Given the description of an element on the screen output the (x, y) to click on. 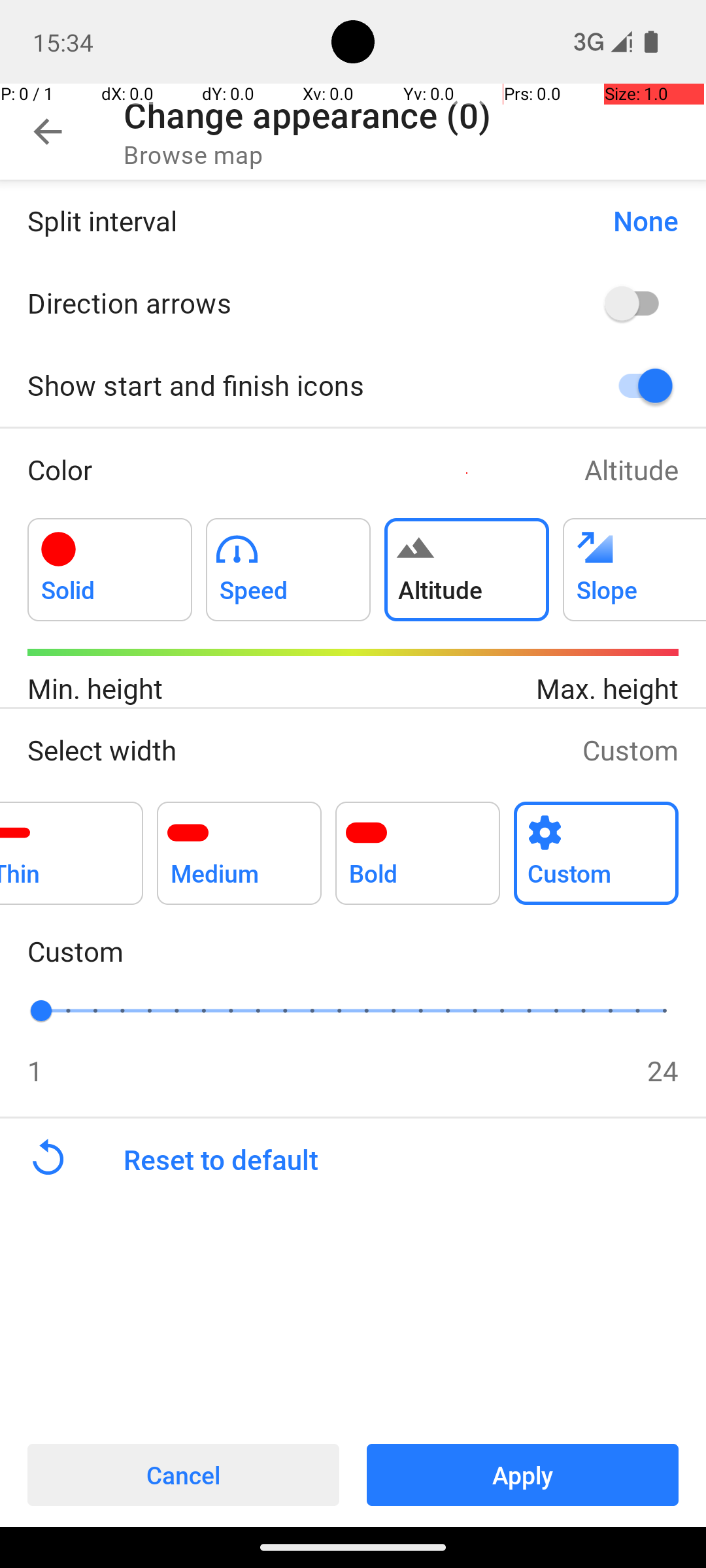
Change appearance (0) Element type: android.widget.TextView (307, 114)
Browse map Element type: android.widget.TextView (193, 154)
Altitude Element type: android.widget.TextView (631, 469)
Min. height Element type: android.widget.TextView (190, 687)
Max. height Element type: android.widget.TextView (515, 687)
Select width Element type: android.widget.TextView (290, 749)
Custom Element type: android.widget.TextView (630, 749)
Split interval Element type: android.widget.TextView (306, 220)
Direction arrows Element type: android.widget.TextView (297, 302)
Show start and finish icons Element type: android.widget.TextView (297, 384)
Value, 1 Element type: android.widget.SeekBar (54, 1010)
Reset to default Element type: android.widget.TextView (414, 1159)
Add to group Element type: android.widget.ImageView (109, 569)
Solid Element type: android.widget.TextView (109, 562)
Speed Element type: android.widget.TextView (287, 562)
Slope Element type: android.widget.TextView (634, 562)
Thin Element type: android.widget.TextView (71, 845)
Medium Element type: android.widget.TextView (238, 845)
